Given the description of an element on the screen output the (x, y) to click on. 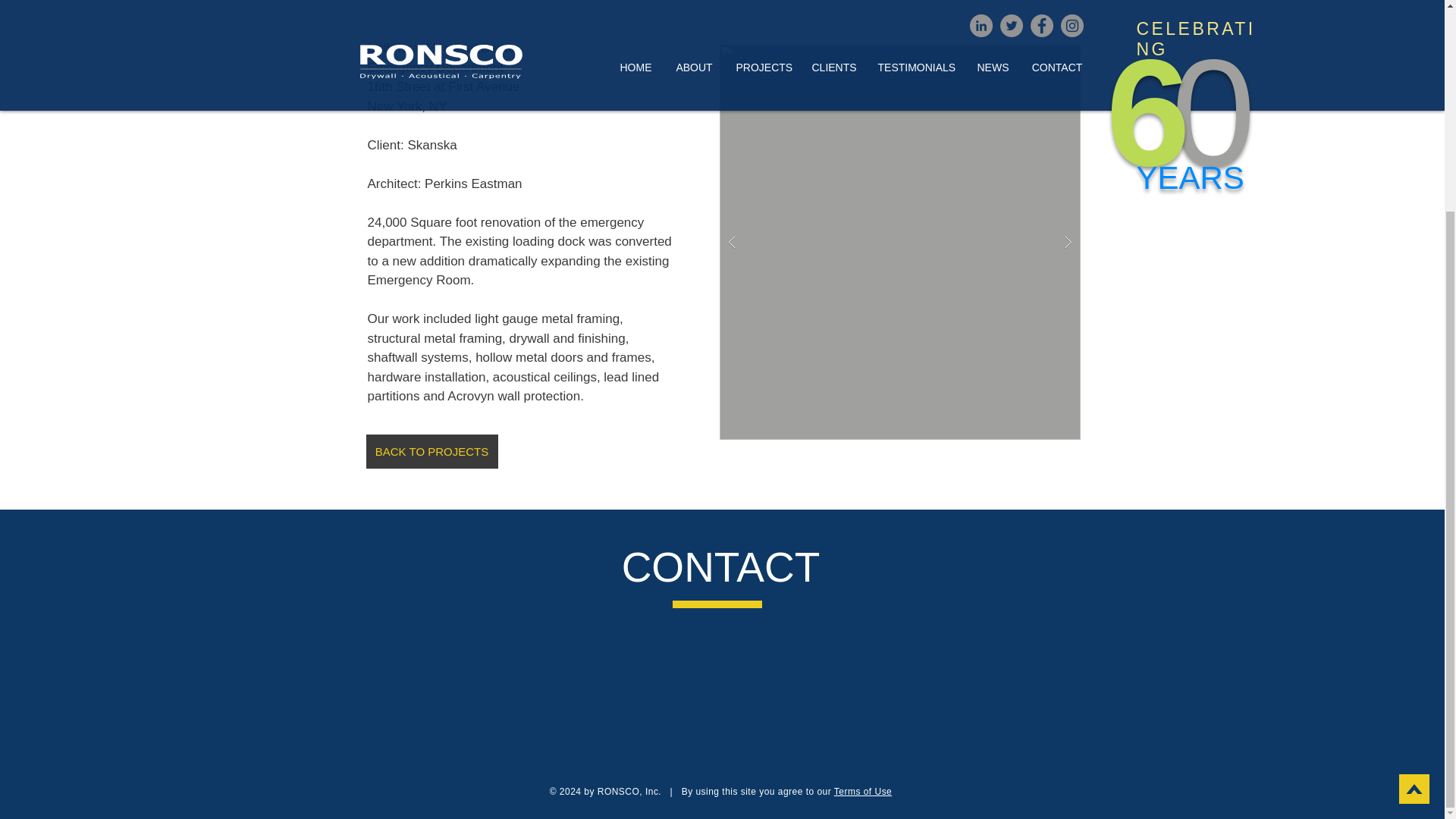
Terms of Use (862, 791)
BACK TO PROJECTS (431, 451)
